Given the description of an element on the screen output the (x, y) to click on. 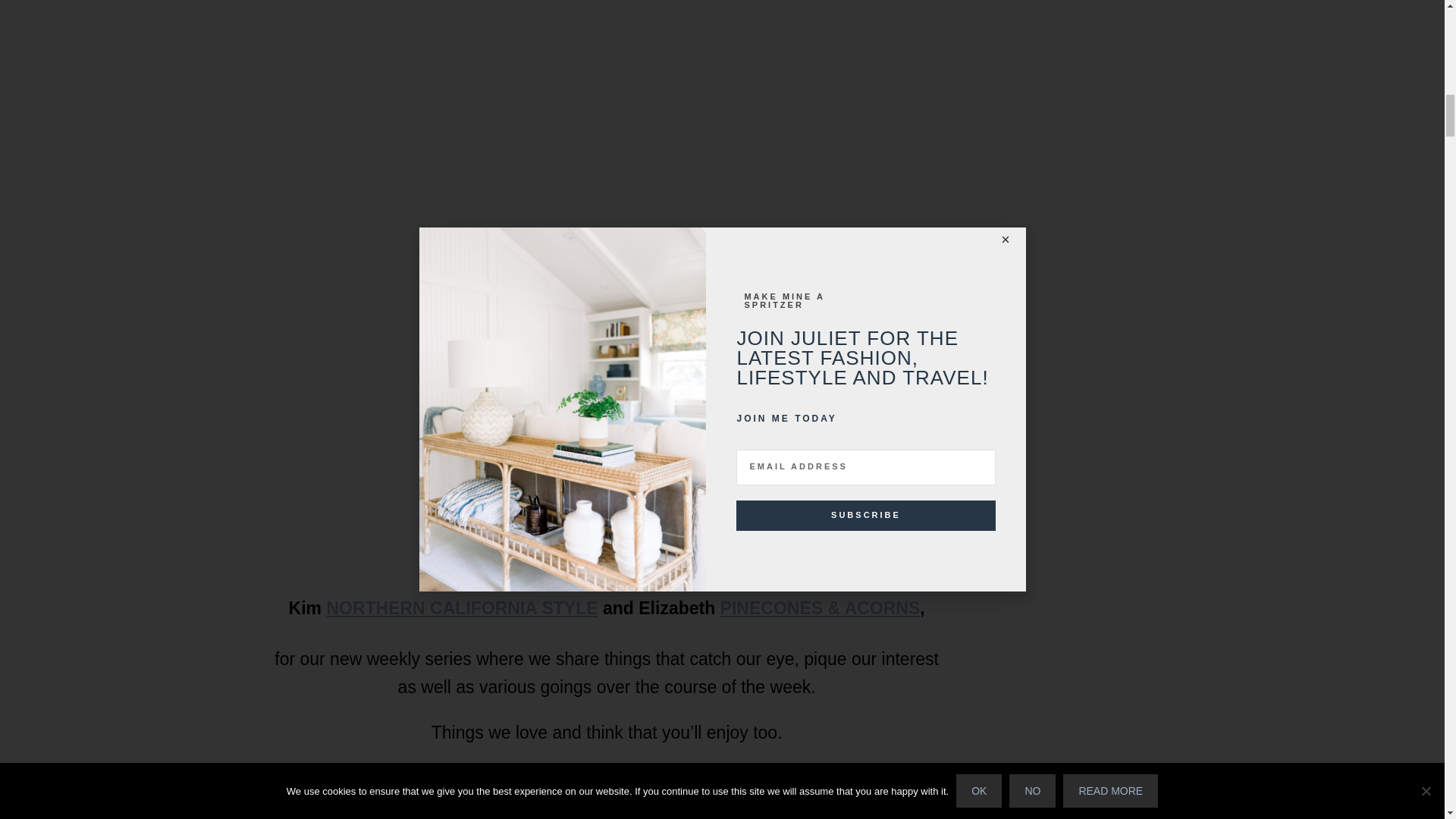
NORTHERN CALIFORNIA STYLE (461, 608)
